Given the description of an element on the screen output the (x, y) to click on. 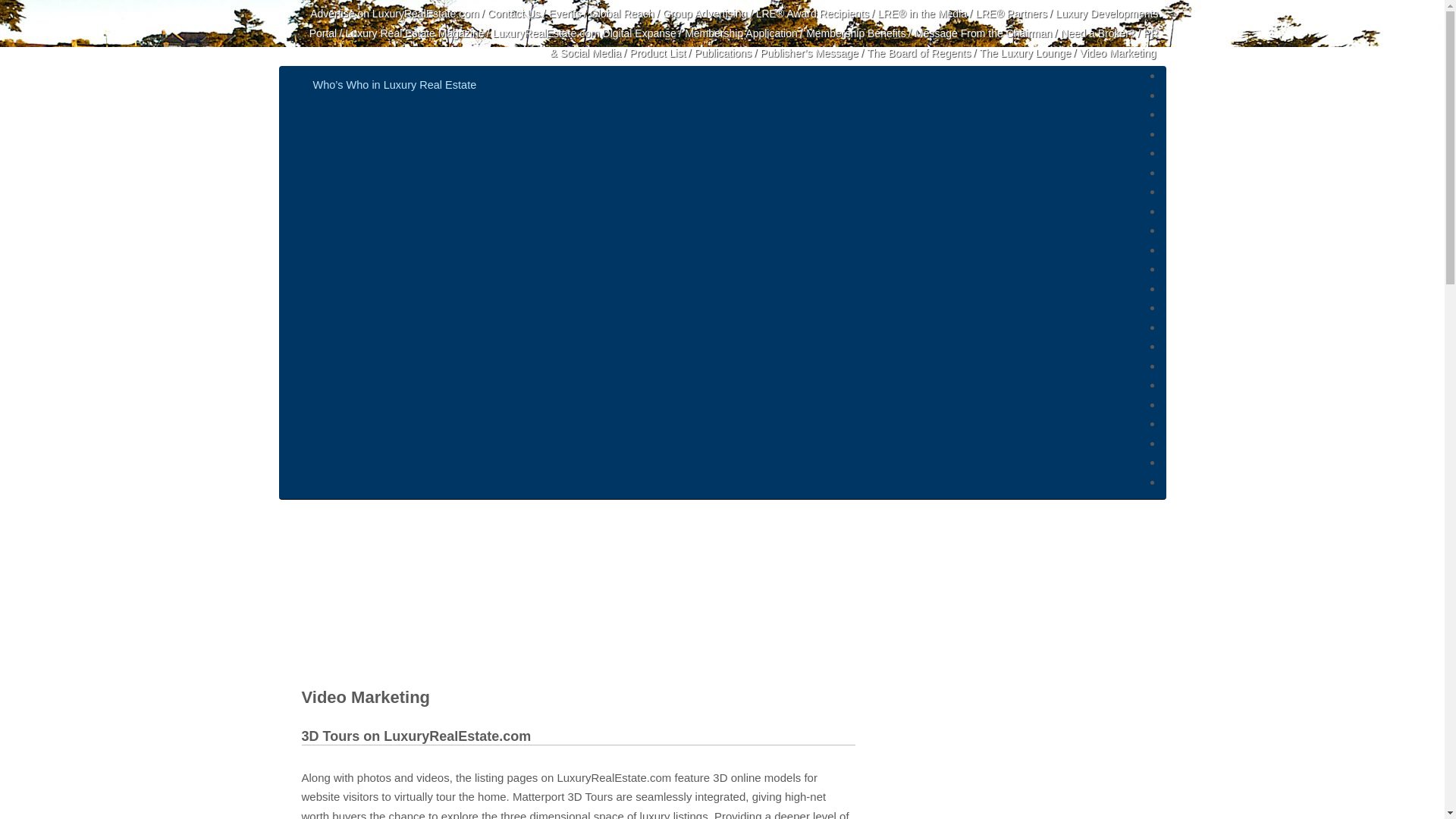
Events (564, 13)
Group Advertising (704, 13)
Message From the Chairman (982, 33)
Video Marketing (1118, 52)
Luxury Developments Portal (733, 23)
The Luxury Lounge (1025, 52)
LuxuryRealEstate.com Digital Expanse (585, 33)
Global Reach (621, 13)
Need a Broker? (1098, 33)
